Given the description of an element on the screen output the (x, y) to click on. 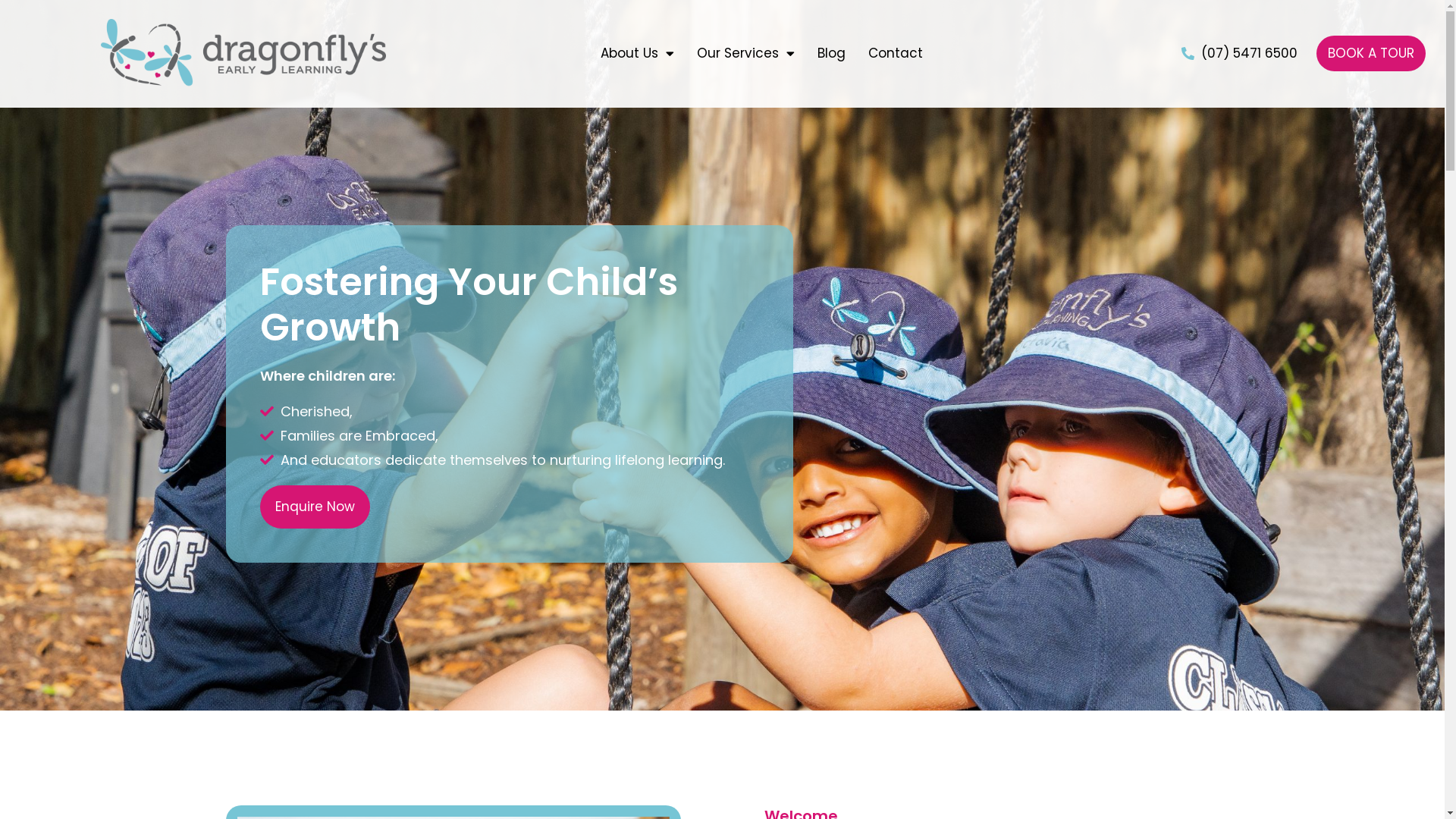
Contact Element type: text (895, 53)
Enquire Now Element type: text (314, 506)
BOOK A TOUR Element type: text (1370, 53)
Our Services Element type: text (745, 53)
Blog Element type: text (831, 53)
About Us Element type: text (637, 53)
(07) 5471 6500 Element type: text (1239, 53)
